Given the description of an element on the screen output the (x, y) to click on. 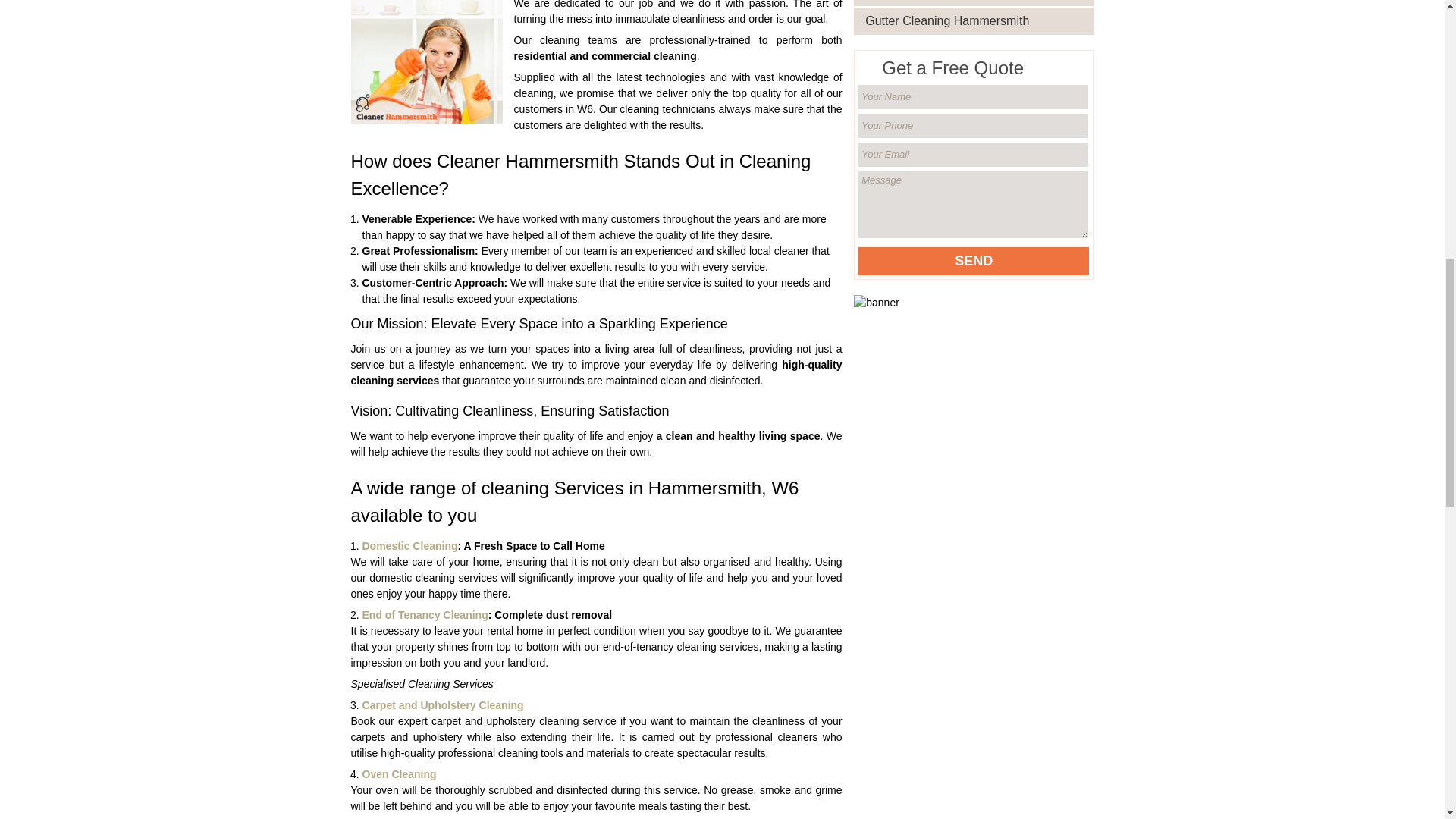
End of Tenancy Cleaning (424, 614)
Gutter Cleaning Hammersmith (978, 21)
Send (974, 261)
Send (974, 261)
Oven Cleaning (399, 774)
Carpet and Upholstery Cleaning (443, 705)
Domestic Cleaning (410, 545)
